Given the description of an element on the screen output the (x, y) to click on. 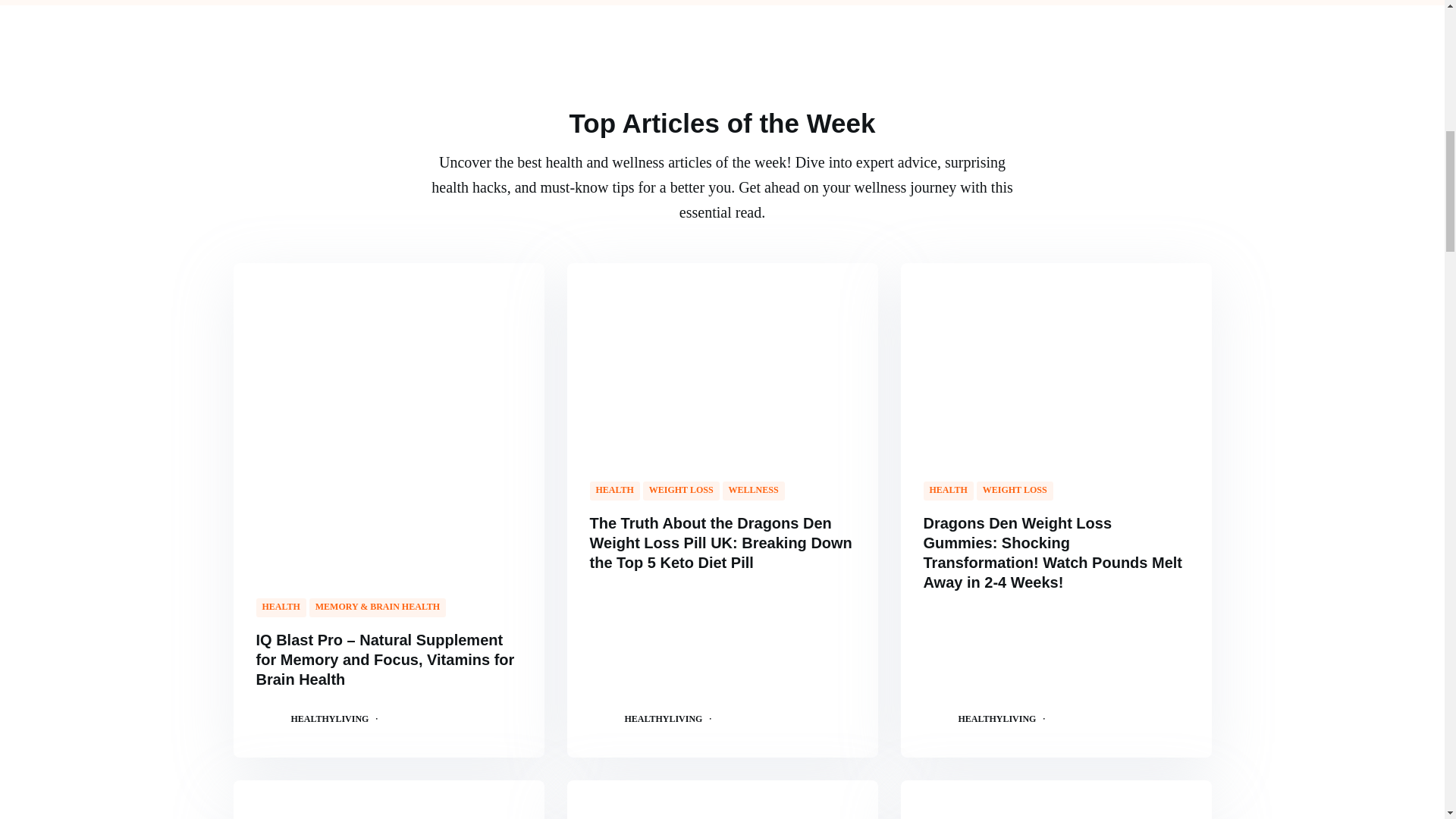
Posts by healthyliving (330, 717)
WEIGHT LOSS (681, 490)
Posts by healthyliving (663, 717)
Posts by healthyliving (997, 717)
WELLNESS (753, 490)
HEALTHYLIVING (330, 717)
HEALTH (614, 490)
HEALTH (280, 606)
